Given the description of an element on the screen output the (x, y) to click on. 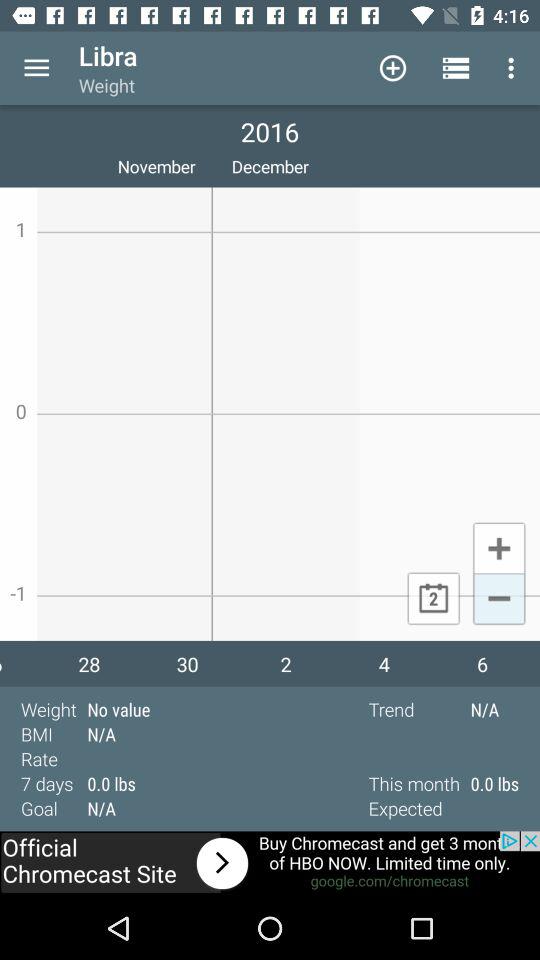
zoom in (498, 547)
